Given the description of an element on the screen output the (x, y) to click on. 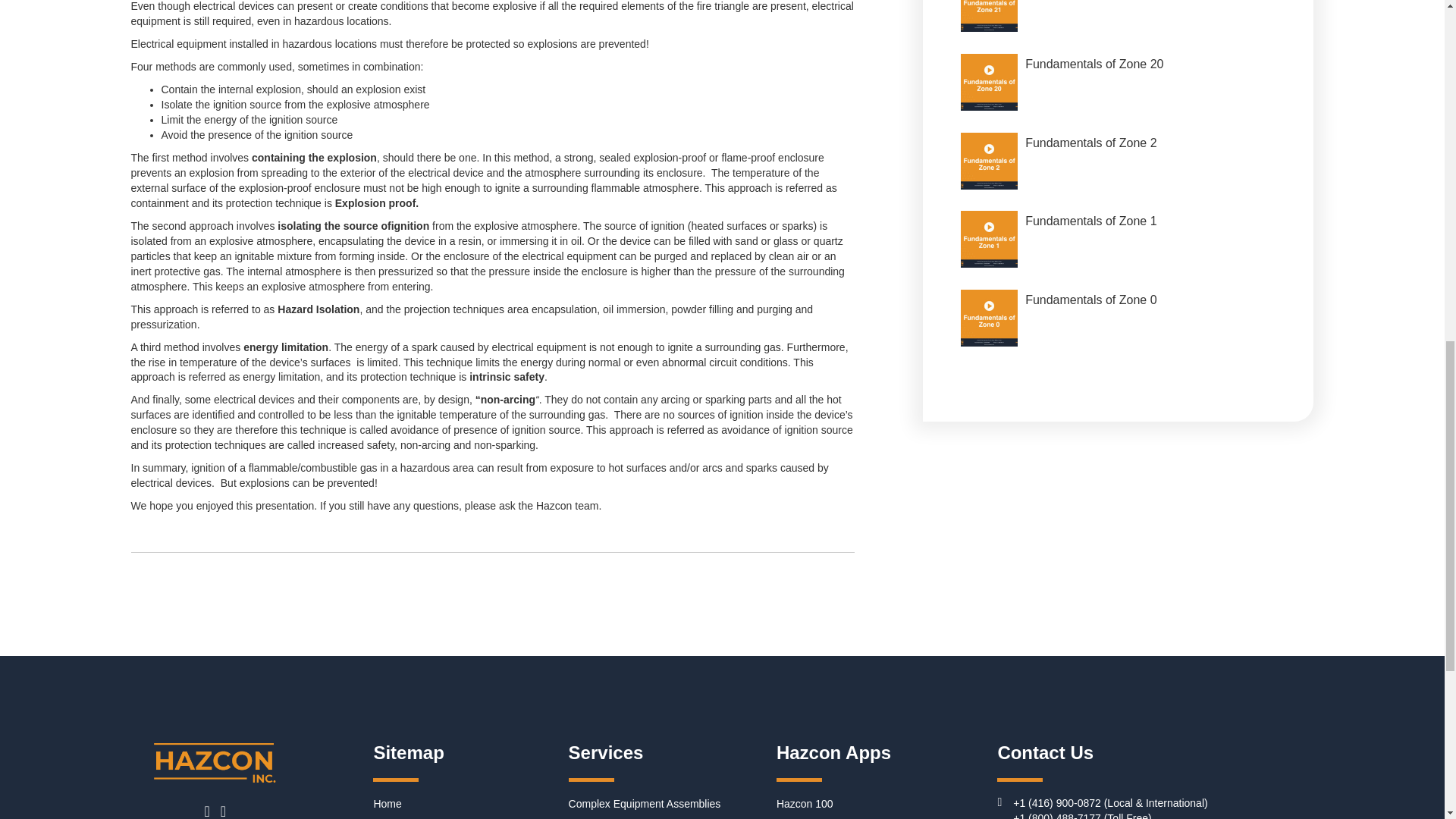
Zone 0 (988, 317)
Zone 21 (988, 15)
Home (386, 803)
Zone 2 (988, 160)
Fundamentals of Zone 0 (1117, 317)
HAZCON-LOGOorange (215, 763)
Fundamentals of Zone 21 (1117, 19)
Complex Equipment Assemblies (644, 803)
Zone 1 (988, 238)
Fundamentals of Zone 20 (1117, 81)
Fundamentals of Zone 1 (1117, 239)
Zone 20 (988, 82)
Fundamentals of Zone 2 (1117, 161)
